Given the description of an element on the screen output the (x, y) to click on. 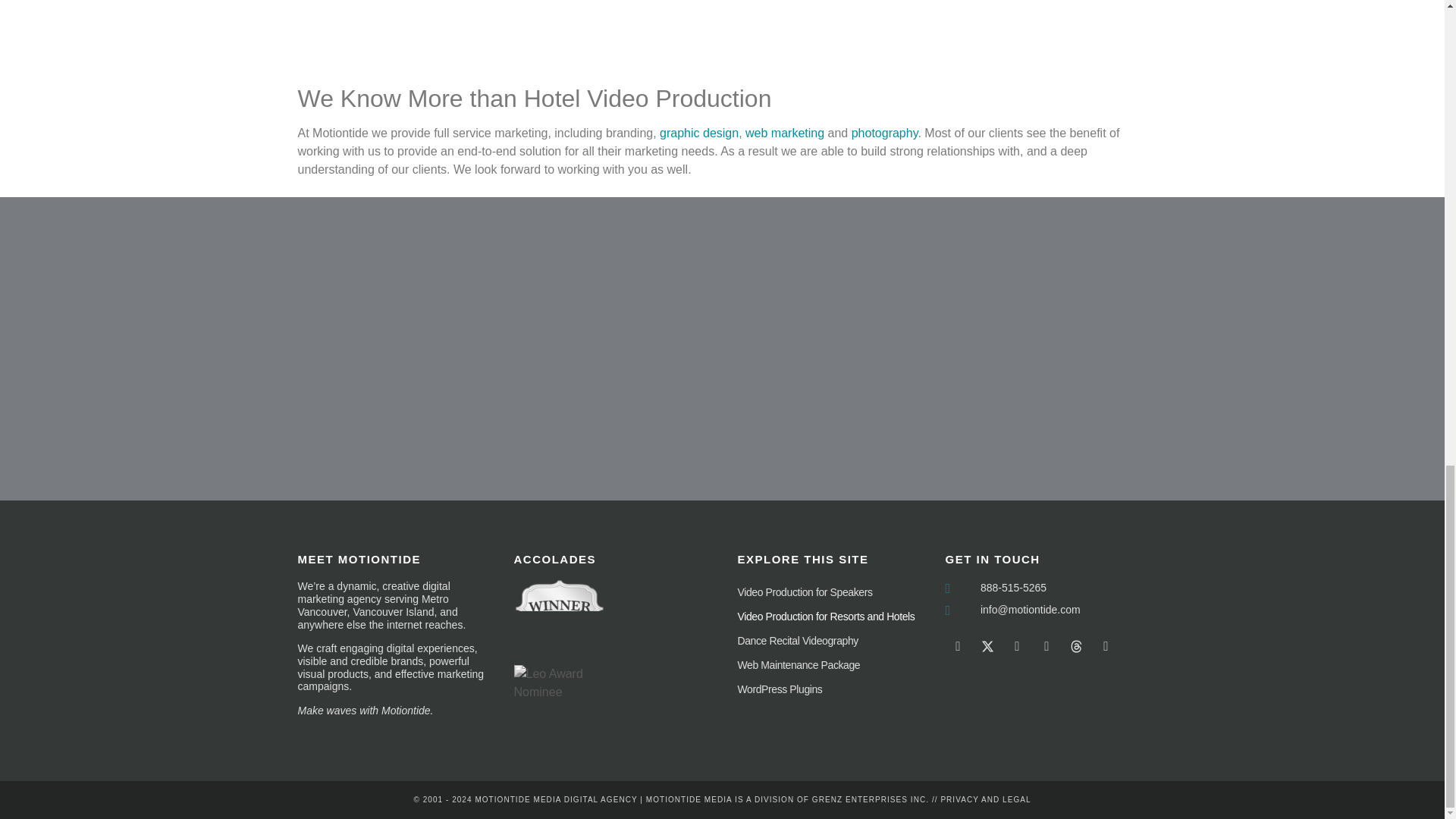
WordPress Plugins (833, 689)
Dance Recital Videography (833, 640)
web marketing (784, 132)
888-515-5265 (1044, 587)
Video Production for Speakers (833, 591)
graphic design (698, 132)
Video Production for Resorts and Hotels (833, 616)
photography (884, 132)
Web Maintenance Package (833, 664)
